Given the description of an element on the screen output the (x, y) to click on. 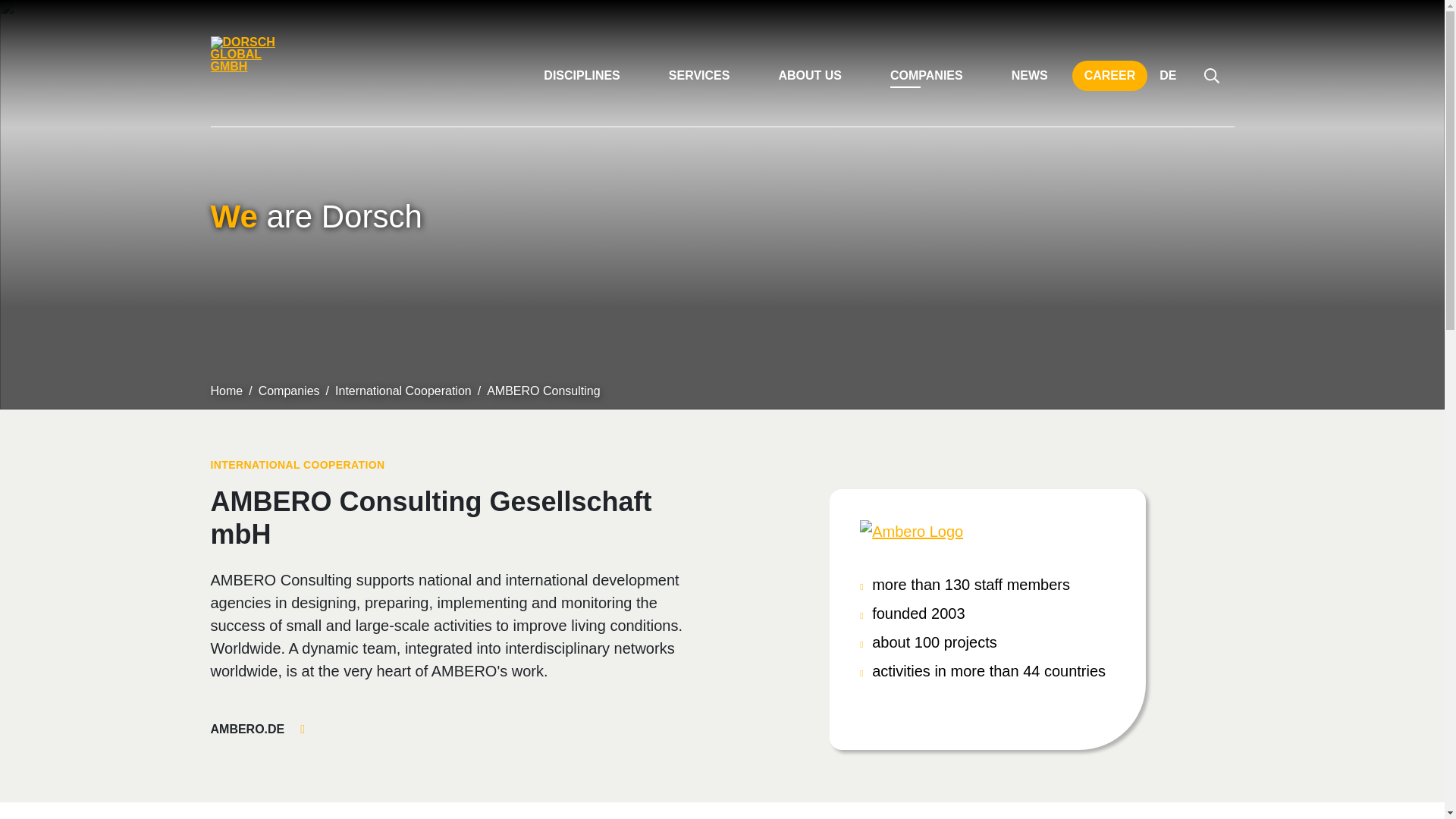
SERVICES (699, 75)
ABOUT US (810, 75)
COMPANIES (926, 75)
CAREER (1109, 75)
DISCIPLINES (581, 75)
DE (1167, 75)
NEWS (1029, 75)
